Given the description of an element on the screen output the (x, y) to click on. 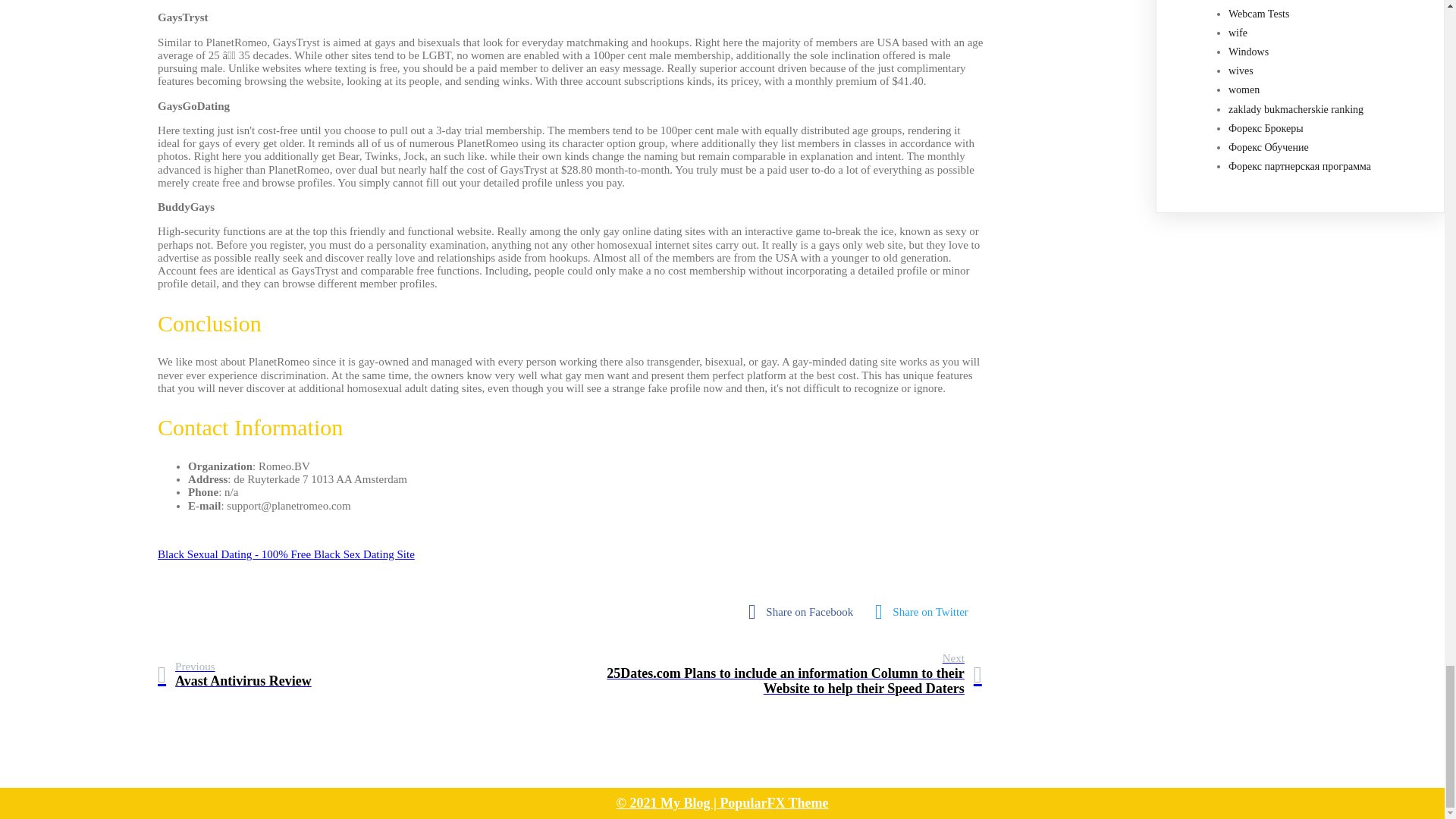
Share on Facebook (804, 611)
fab fa-twitter-square (925, 611)
fab fa-facebook-square (804, 611)
Share on Twitter (234, 674)
